Given the description of an element on the screen output the (x, y) to click on. 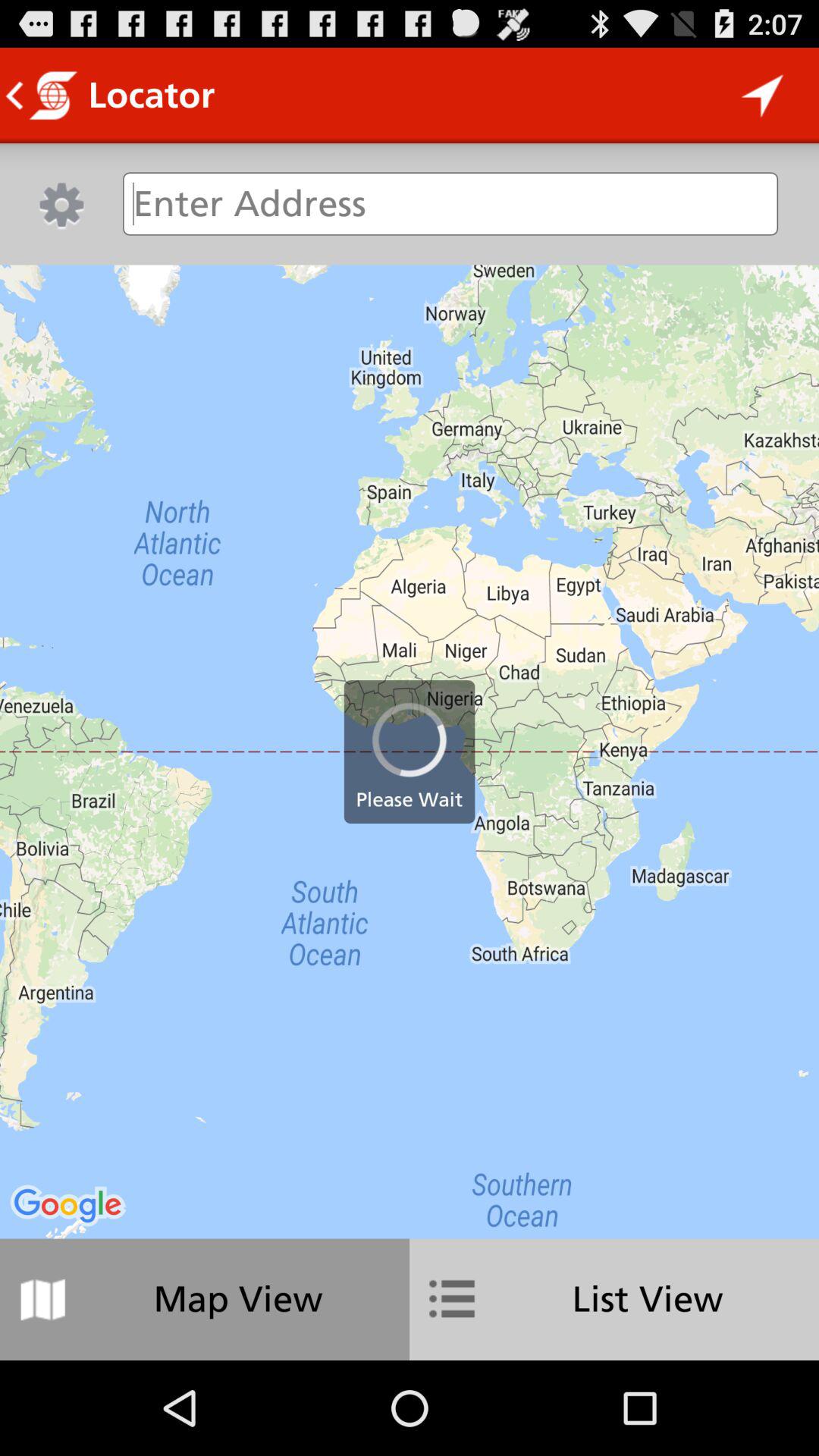
open item next to the map view (614, 1299)
